Given the description of an element on the screen output the (x, y) to click on. 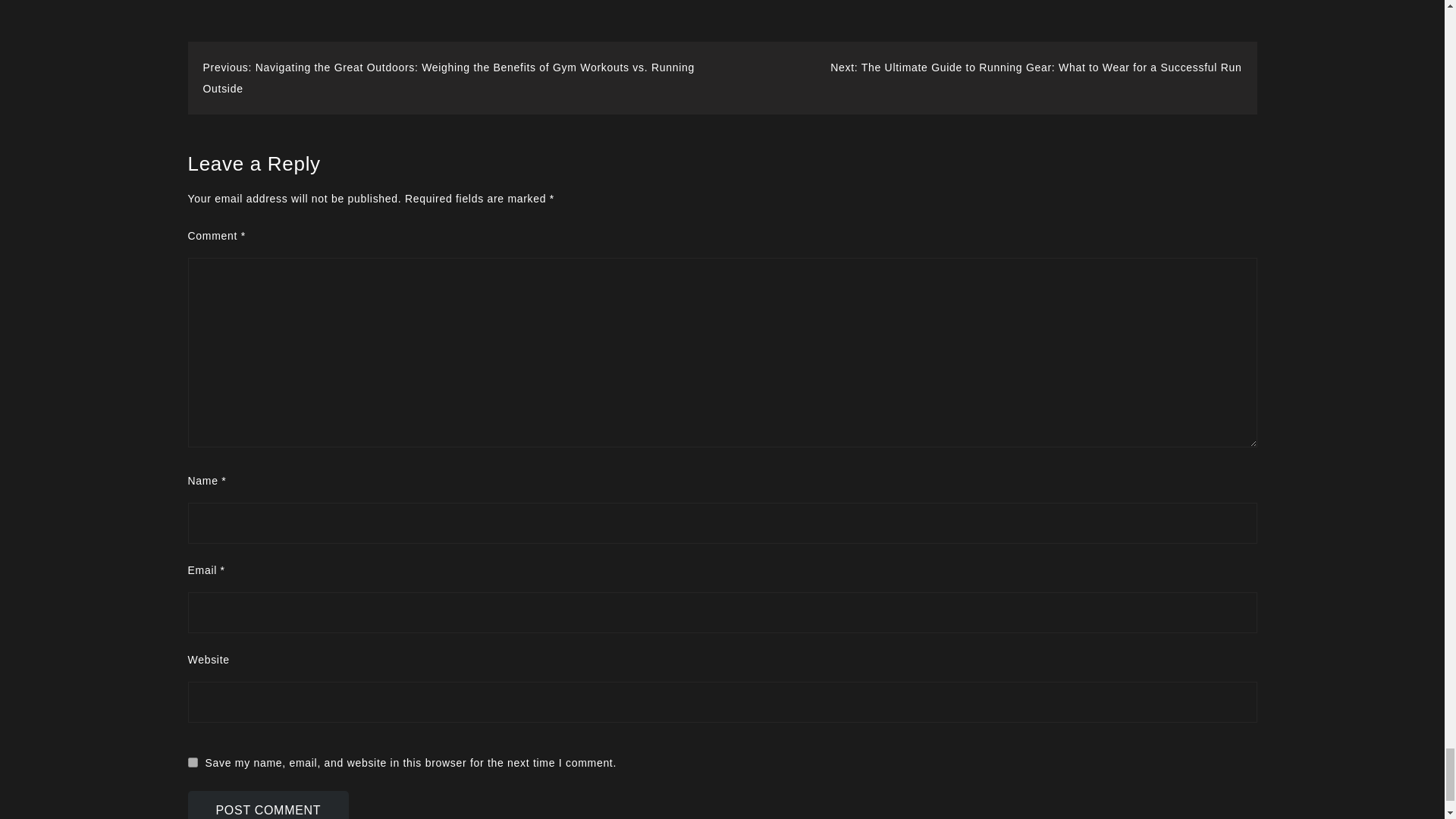
yes (192, 762)
Post Comment (268, 805)
Post Comment (268, 805)
